Given the description of an element on the screen output the (x, y) to click on. 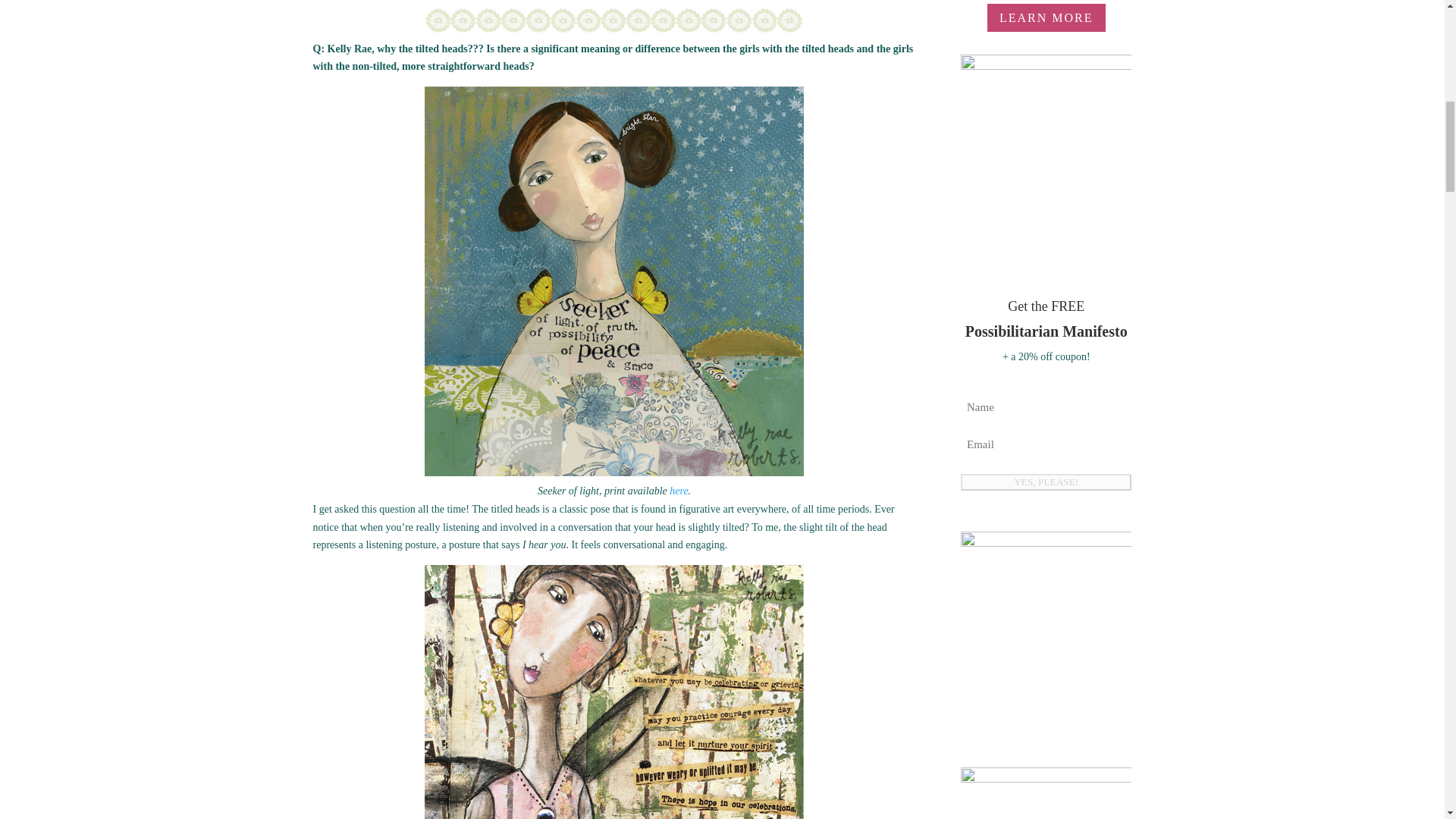
LEARN MORE (1046, 17)
YES, PLEASE! (1045, 482)
Shop (1045, 793)
here (677, 490)
